Given the description of an element on the screen output the (x, y) to click on. 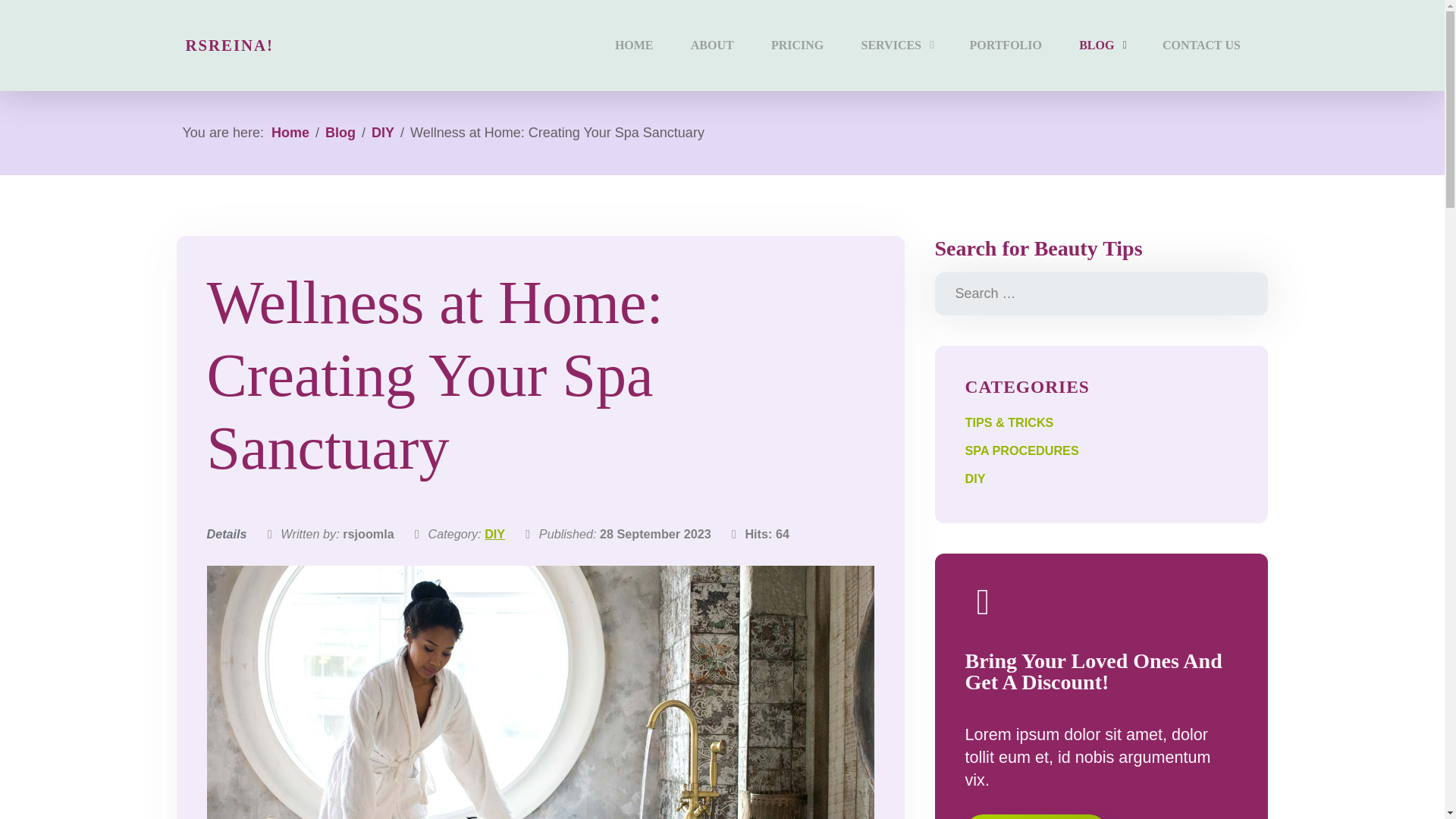
PORTFOLIO (1005, 45)
BLOG (1088, 45)
Home (289, 132)
HOME (633, 45)
RSREINA! (228, 45)
DIY (382, 132)
PRICING (797, 45)
DIY (974, 478)
SPA PROCEDURES (1020, 450)
CONTACT US (1200, 45)
